Given the description of an element on the screen output the (x, y) to click on. 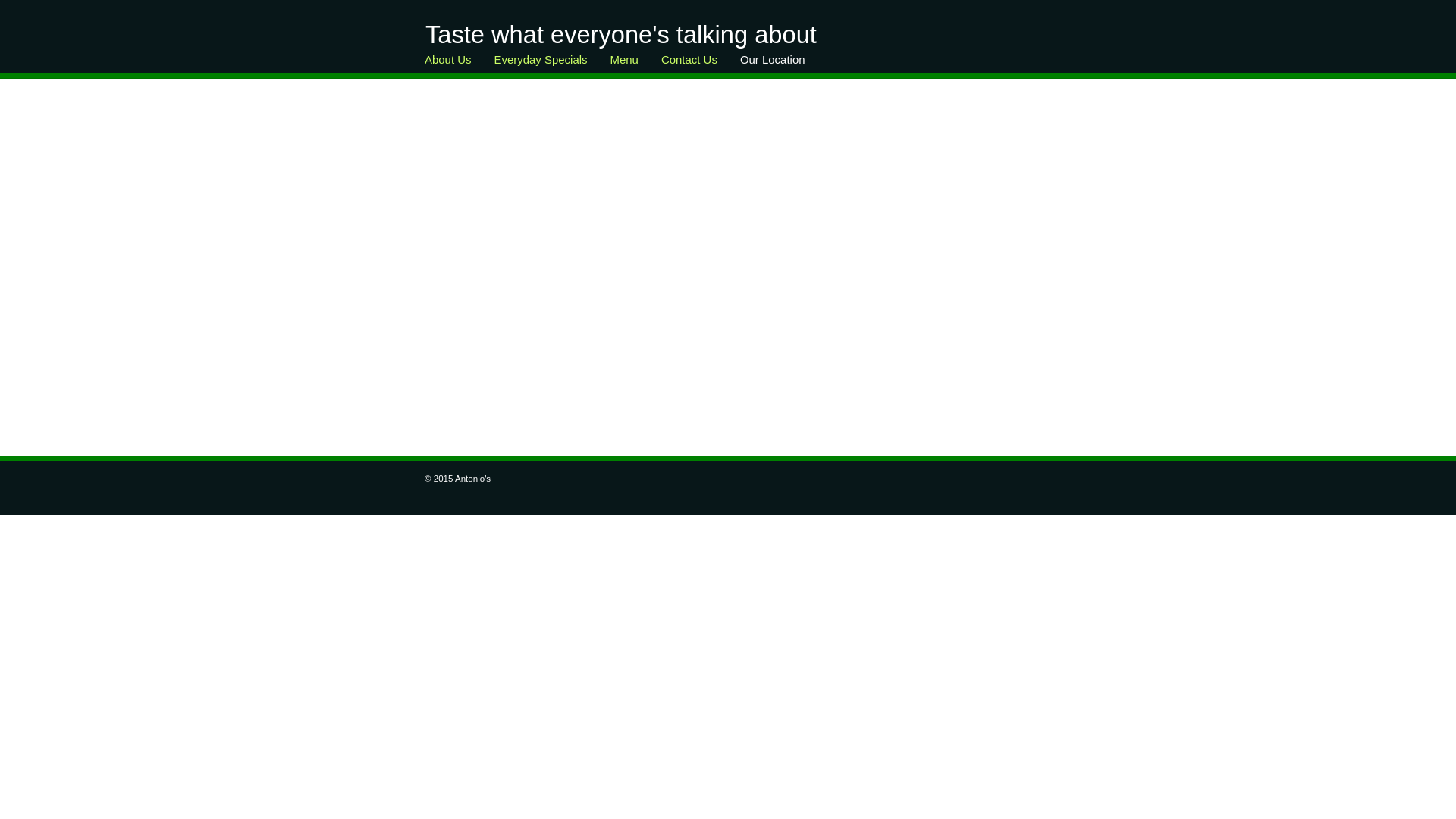
Everyday Specials Element type: text (541, 63)
About Us Element type: text (448, 63)
Our Location Element type: text (772, 63)
Menu Element type: text (624, 63)
Contact Us Element type: text (688, 63)
